Given the description of an element on the screen output the (x, y) to click on. 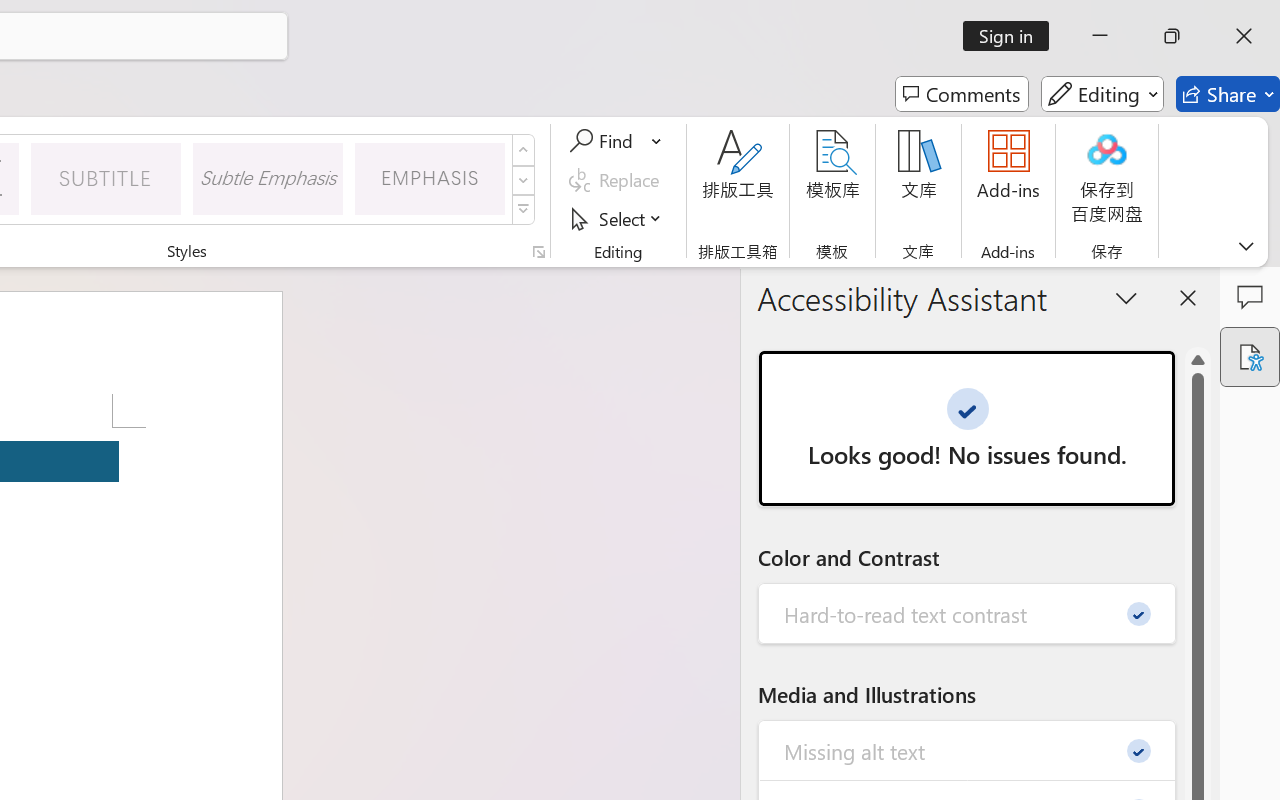
Sign in (1012, 35)
Looks good! No issues found. (966, 428)
